Given the description of an element on the screen output the (x, y) to click on. 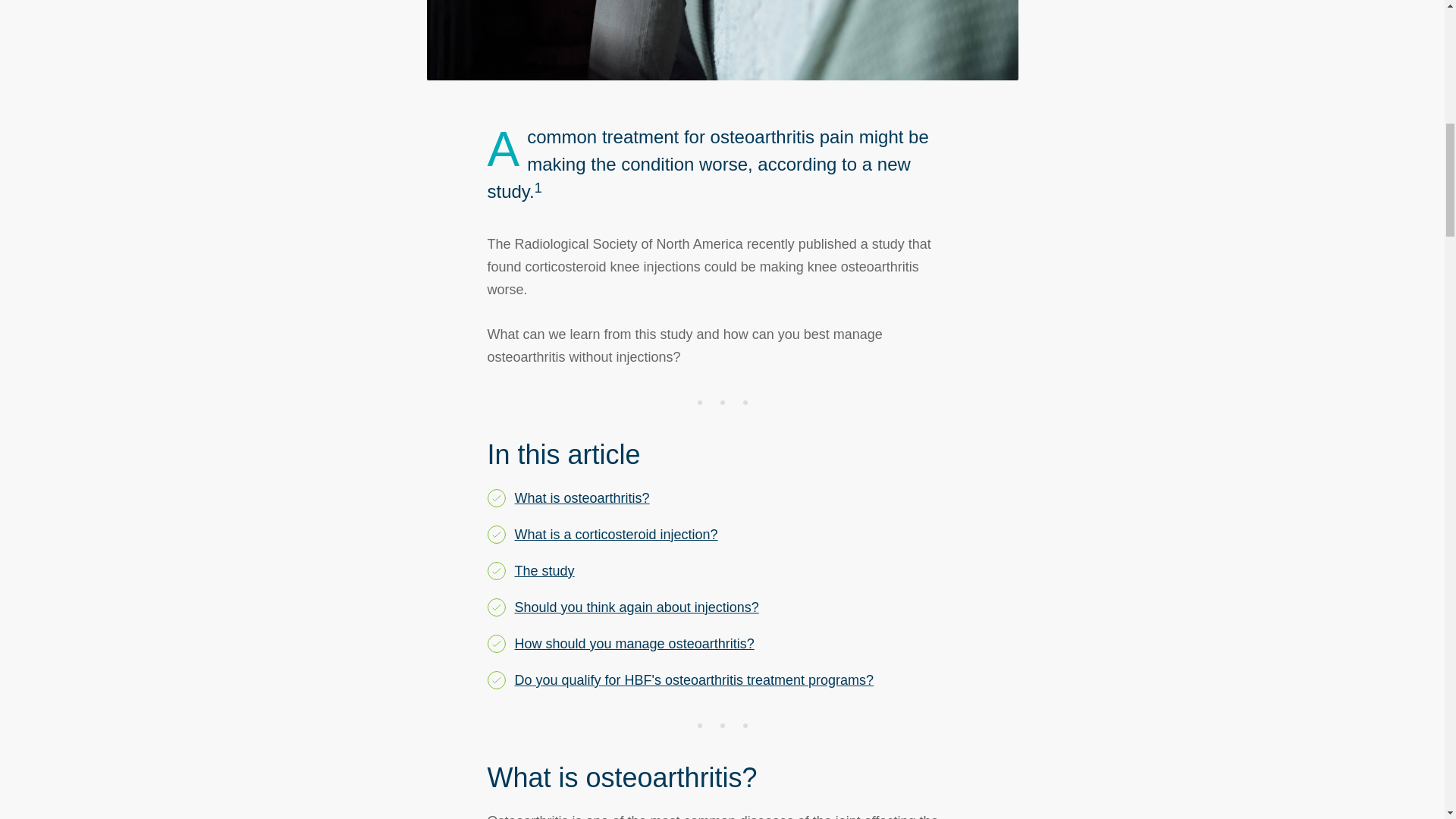
What is a corticosteroid injection? (615, 534)
Do you qualify for HBF's osteoarthritis treatment programs? (693, 679)
The study (543, 570)
Man on edge of bed clutching knee in pain (721, 40)
Should you think again about injections? (635, 607)
What is osteoarthritis? (581, 498)
How should you manage osteoarthritis? (633, 643)
